Given the description of an element on the screen output the (x, y) to click on. 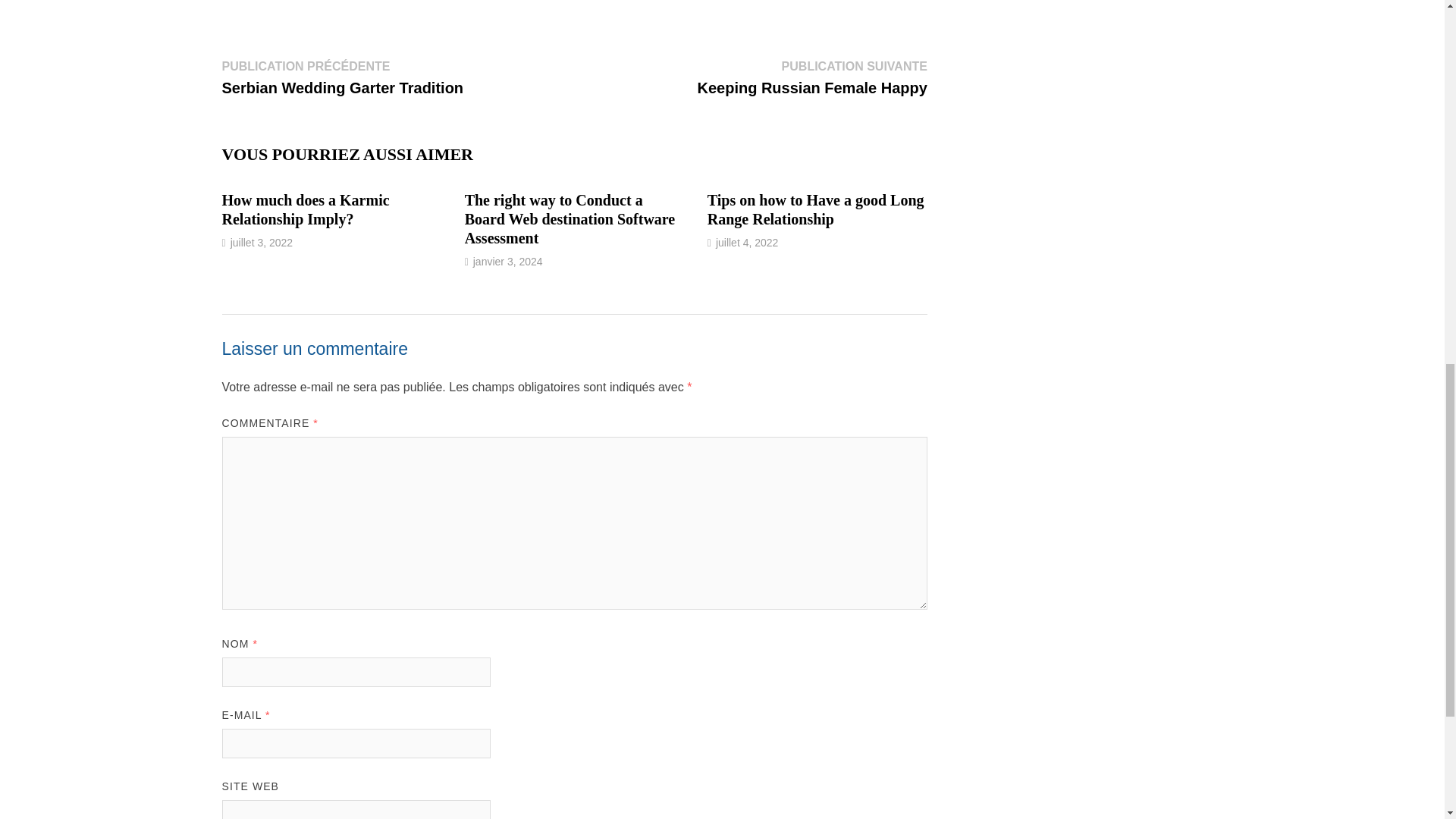
How much does a Karmic Relationship Imply? (304, 209)
juillet 4, 2022 (747, 242)
juillet 3, 2022 (262, 242)
janvier 3, 2024 (508, 261)
Tips on how to Have a good Long Range Relationship (815, 209)
Tips on how to Have a good Long Range Relationship (815, 209)
How much does a Karmic Relationship Imply? (304, 209)
